Given the description of an element on the screen output the (x, y) to click on. 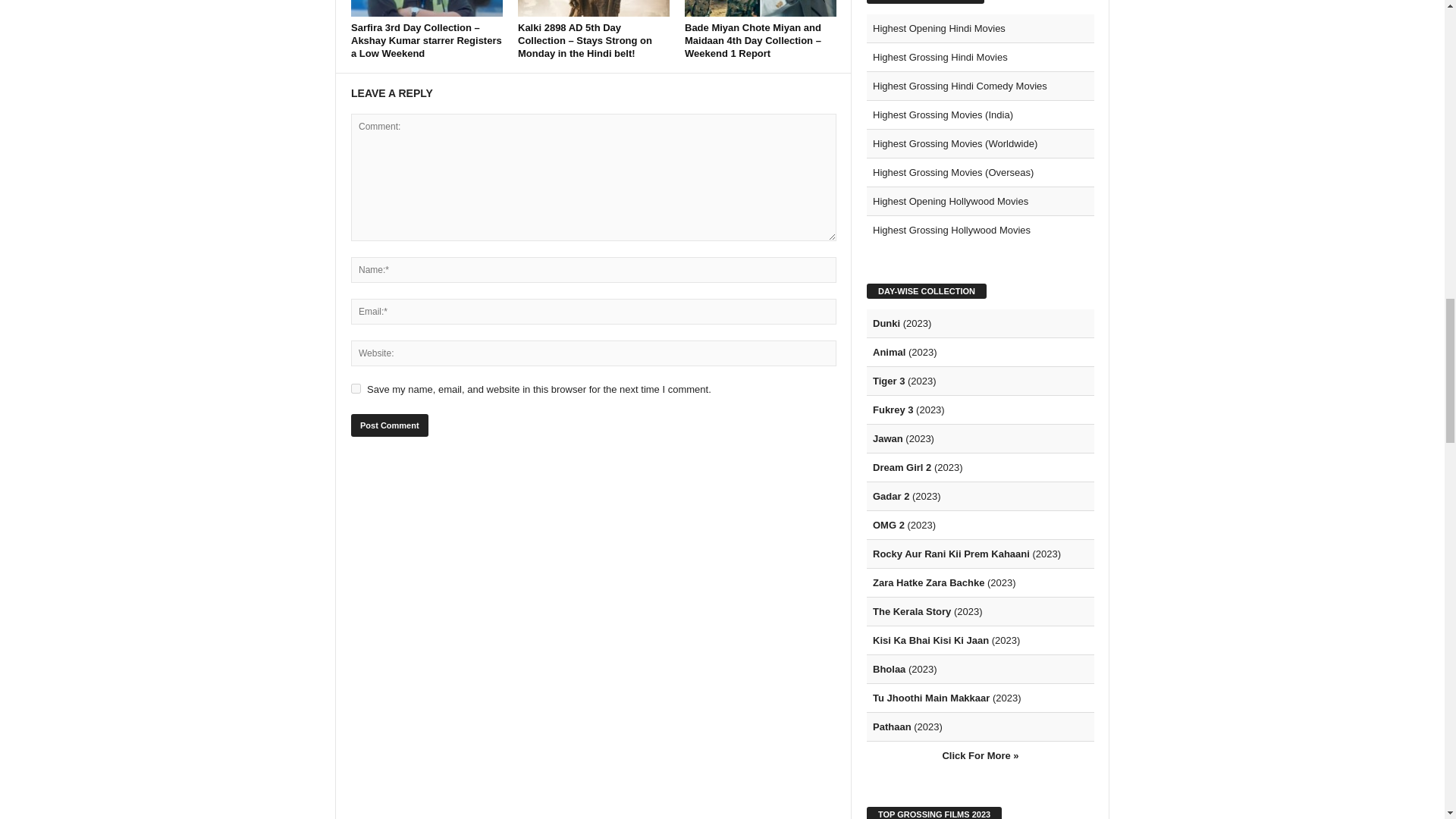
Post Comment (389, 425)
yes (355, 388)
